Given the description of an element on the screen output the (x, y) to click on. 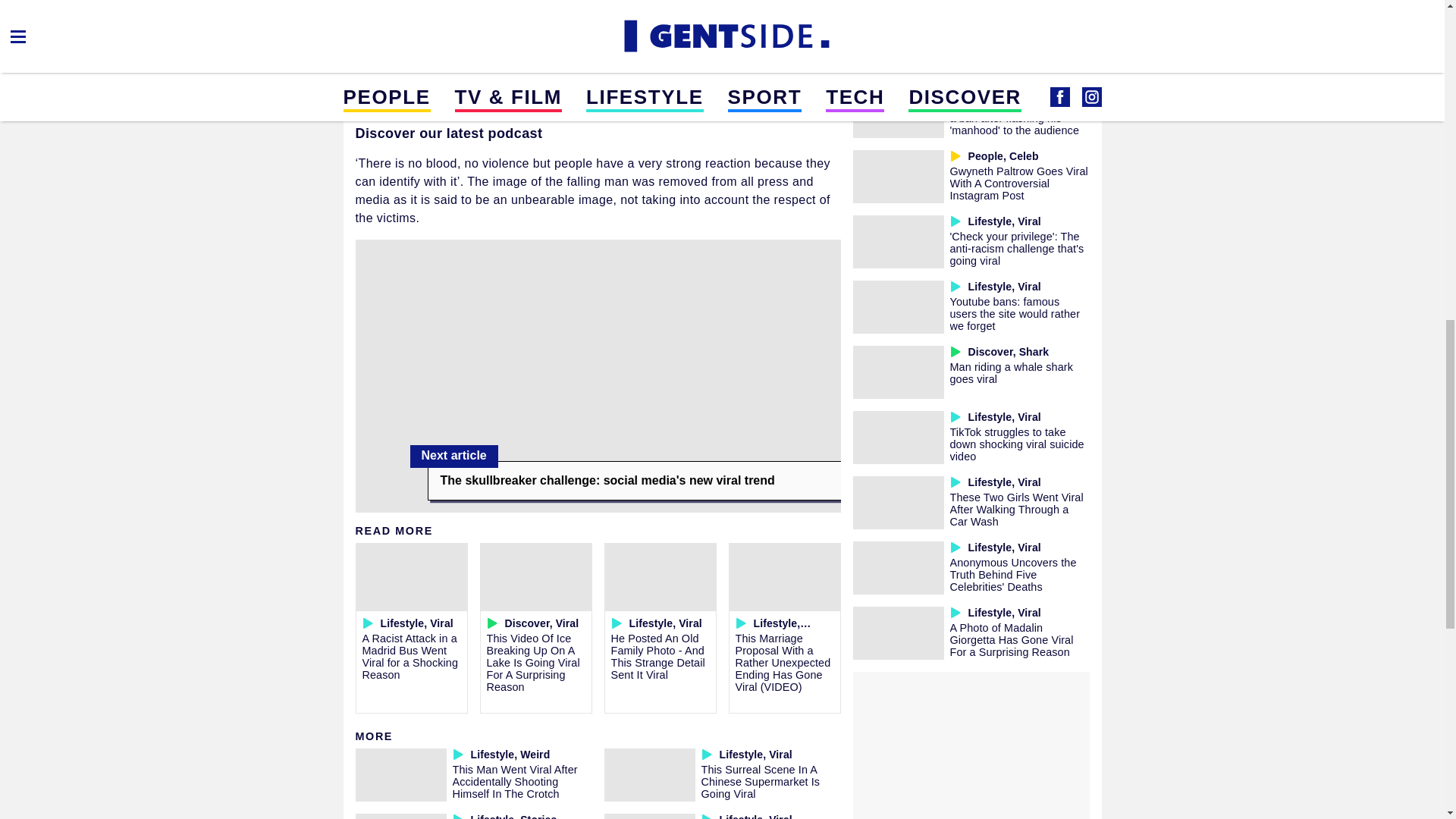
This Surreal Scene In A Chinese Supermarket Is Going Viral (759, 781)
Tweeter (488, 15)
Share on Facebook (378, 15)
TikTok struggles to take down shocking viral suicide video (1016, 443)
The dark side of Twitter: top 10 famous bans (1017, 46)
Anonymous Uncovers the Truth Behind Five Celebrities' Deaths (1012, 574)
Share on Flipboard (451, 15)
The skullbreaker challenge: social media's new viral trend (634, 480)
Share on Mail (415, 15)
Pin it (524, 15)
